Given the description of an element on the screen output the (x, y) to click on. 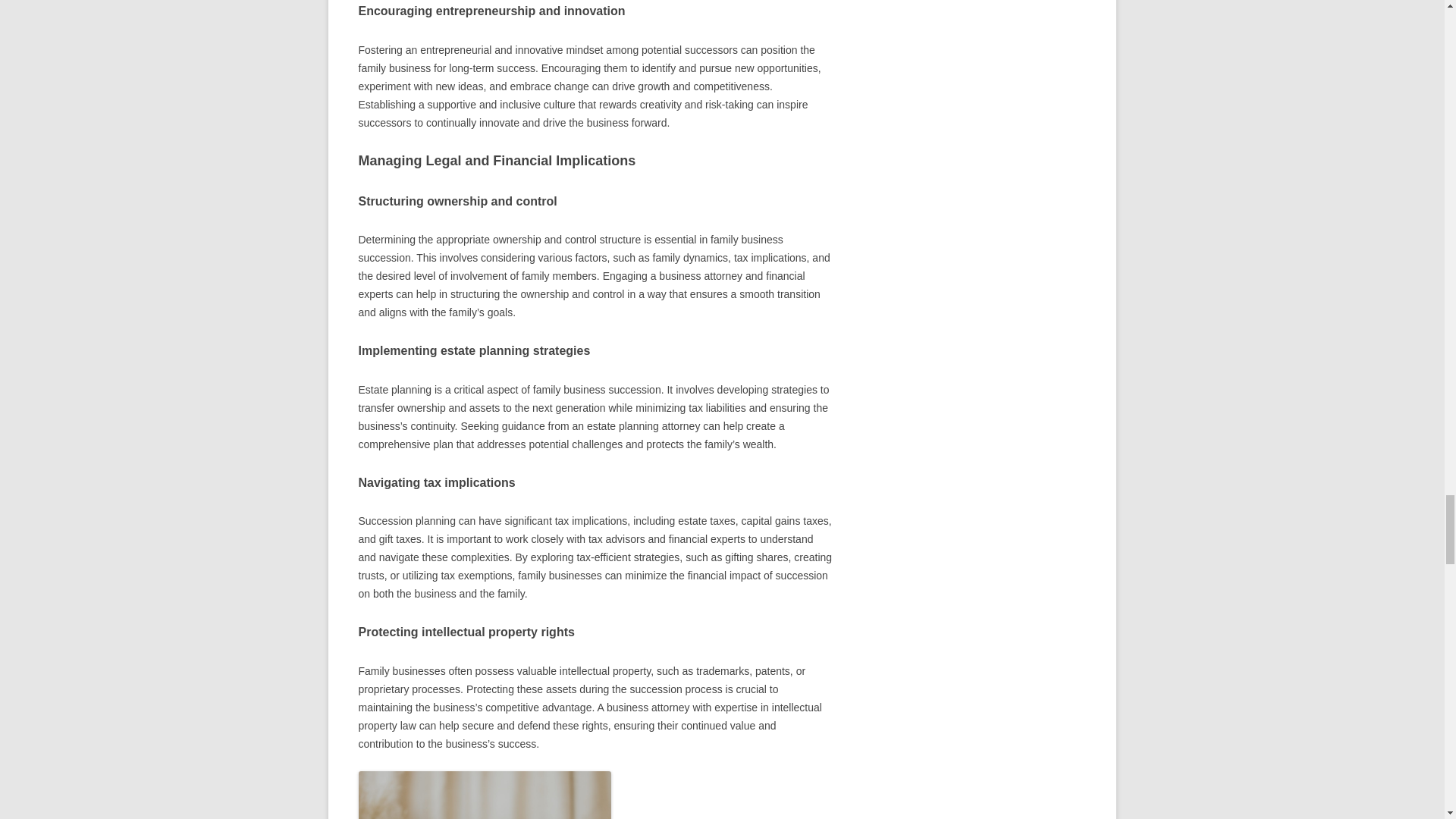
Family Business Succession Passing The Torch (484, 795)
